Given the description of an element on the screen output the (x, y) to click on. 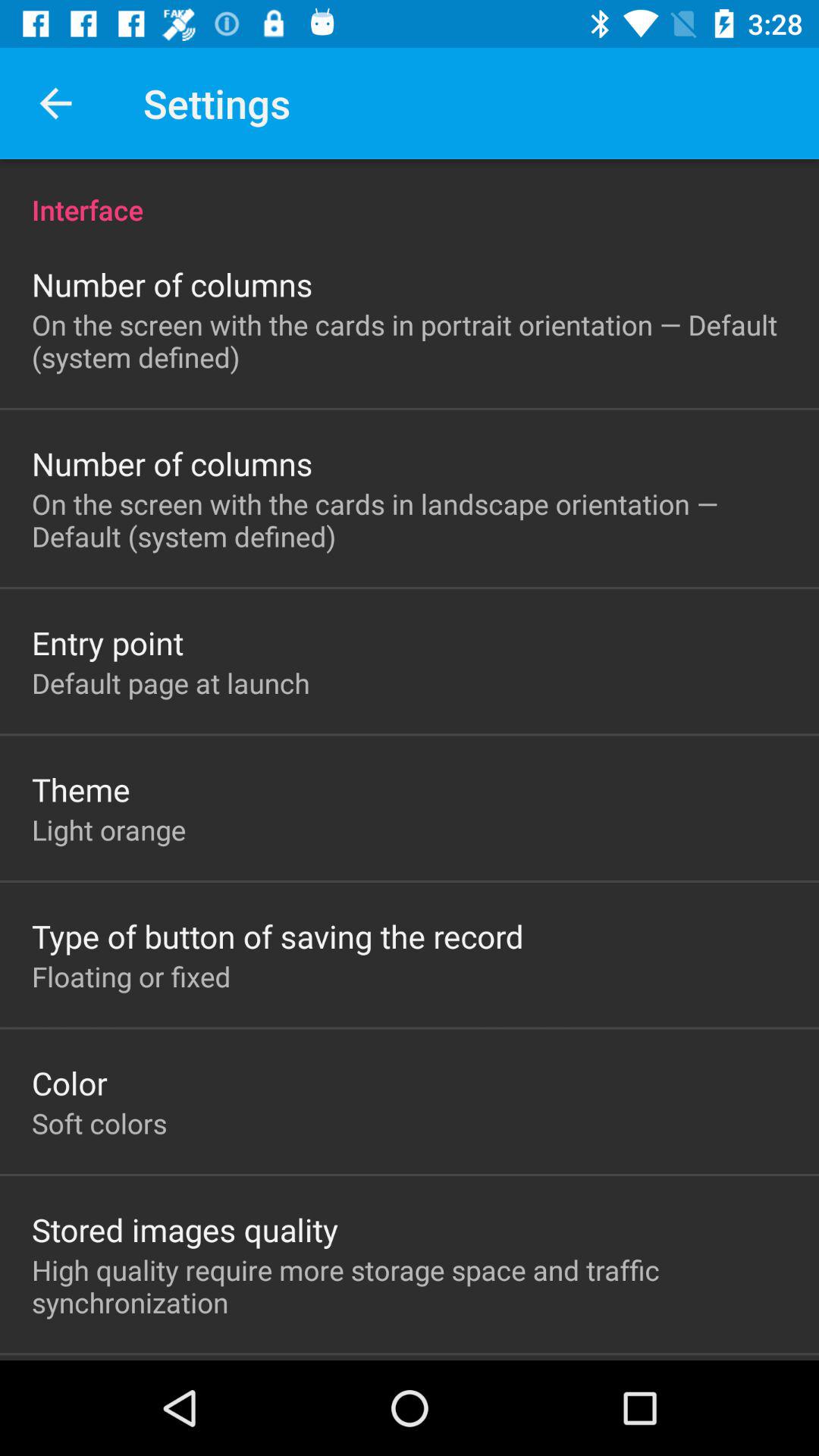
tap the app to the left of settings icon (55, 103)
